Given the description of an element on the screen output the (x, y) to click on. 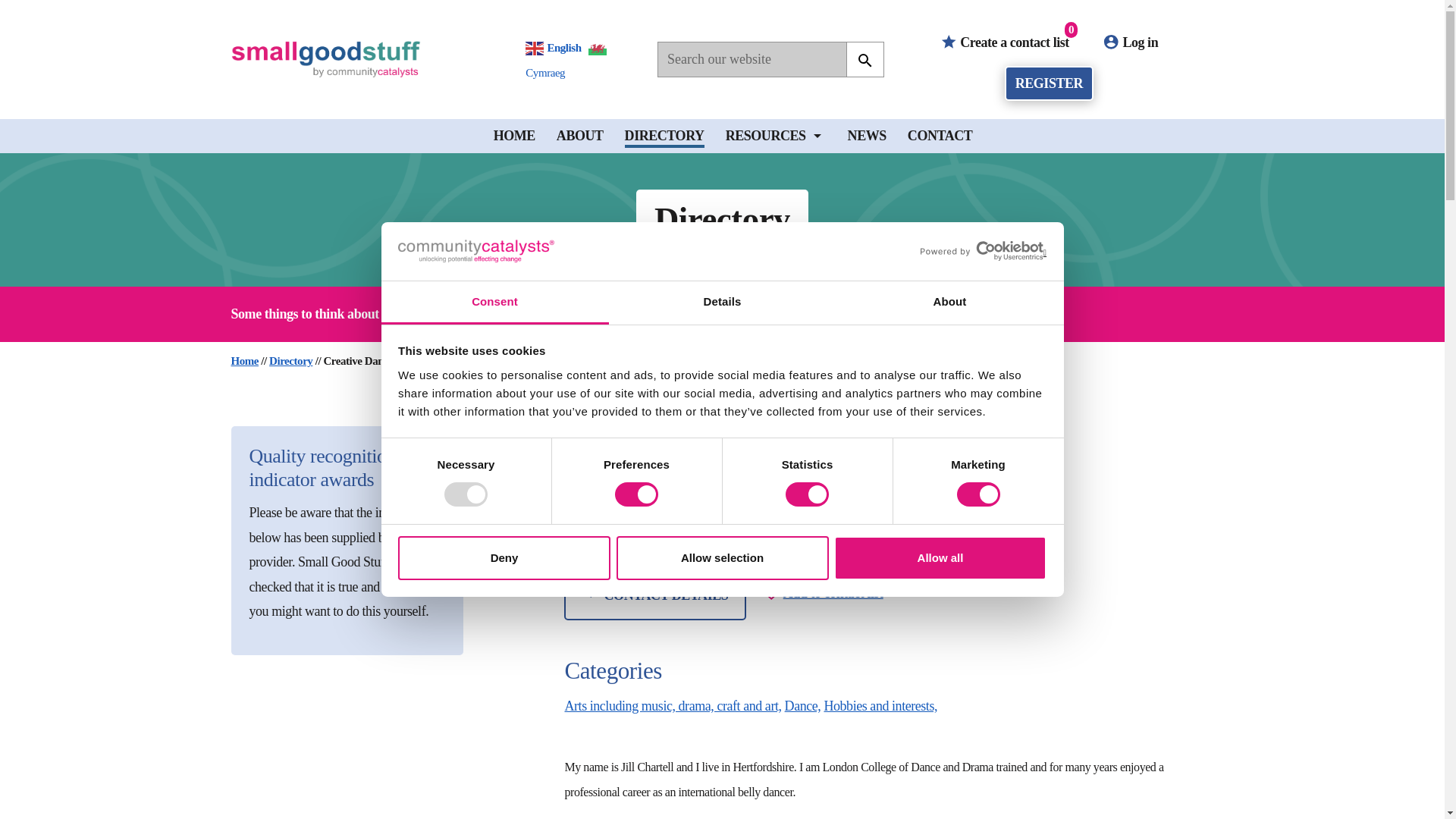
Deny (503, 557)
About (948, 302)
Allow selection (721, 557)
Search the website (865, 60)
Details (721, 302)
Consent (494, 302)
